Given the description of an element on the screen output the (x, y) to click on. 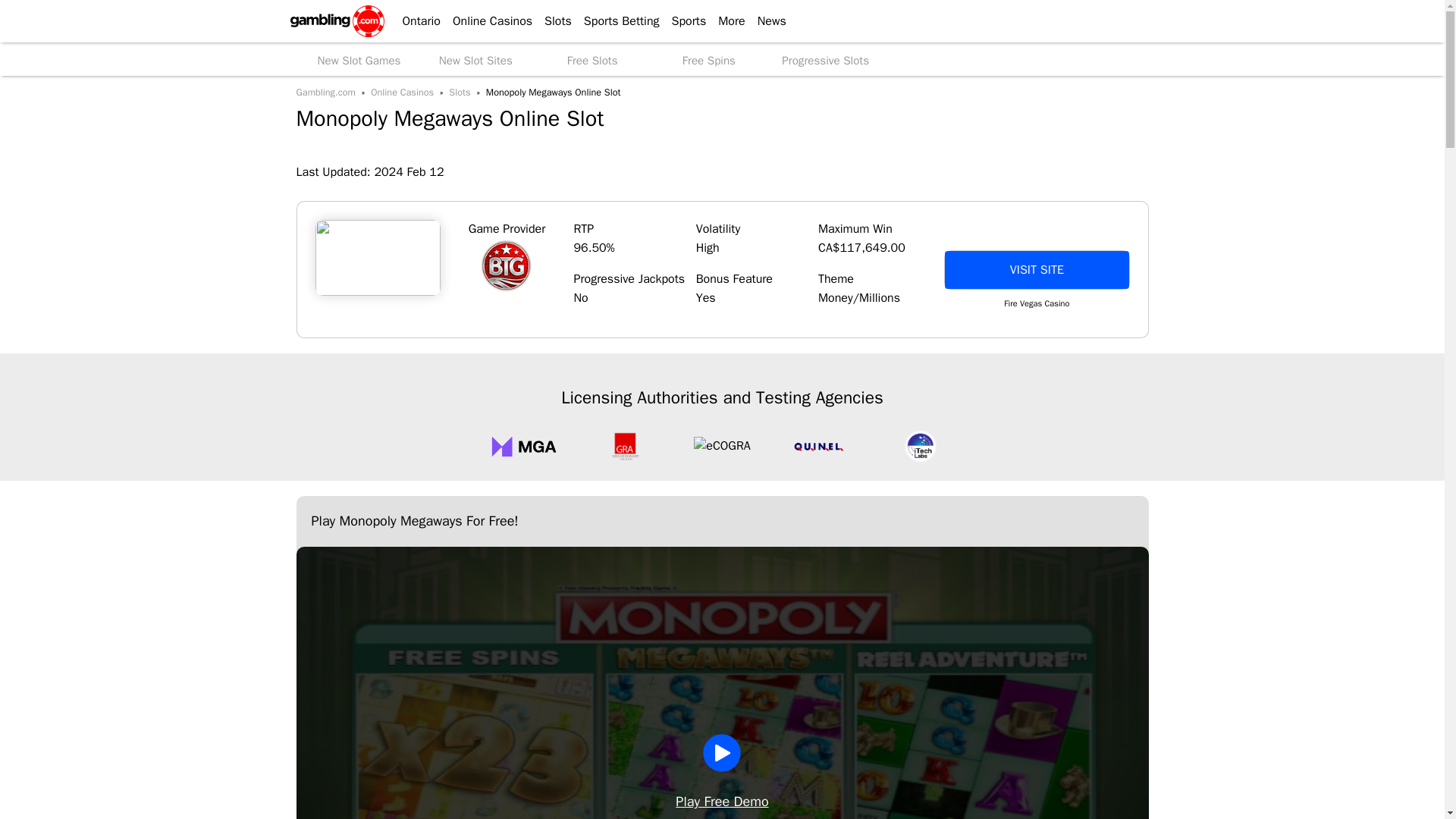
Ontario (414, 21)
Online Casinos (486, 21)
Slots (552, 21)
